Given the description of an element on the screen output the (x, y) to click on. 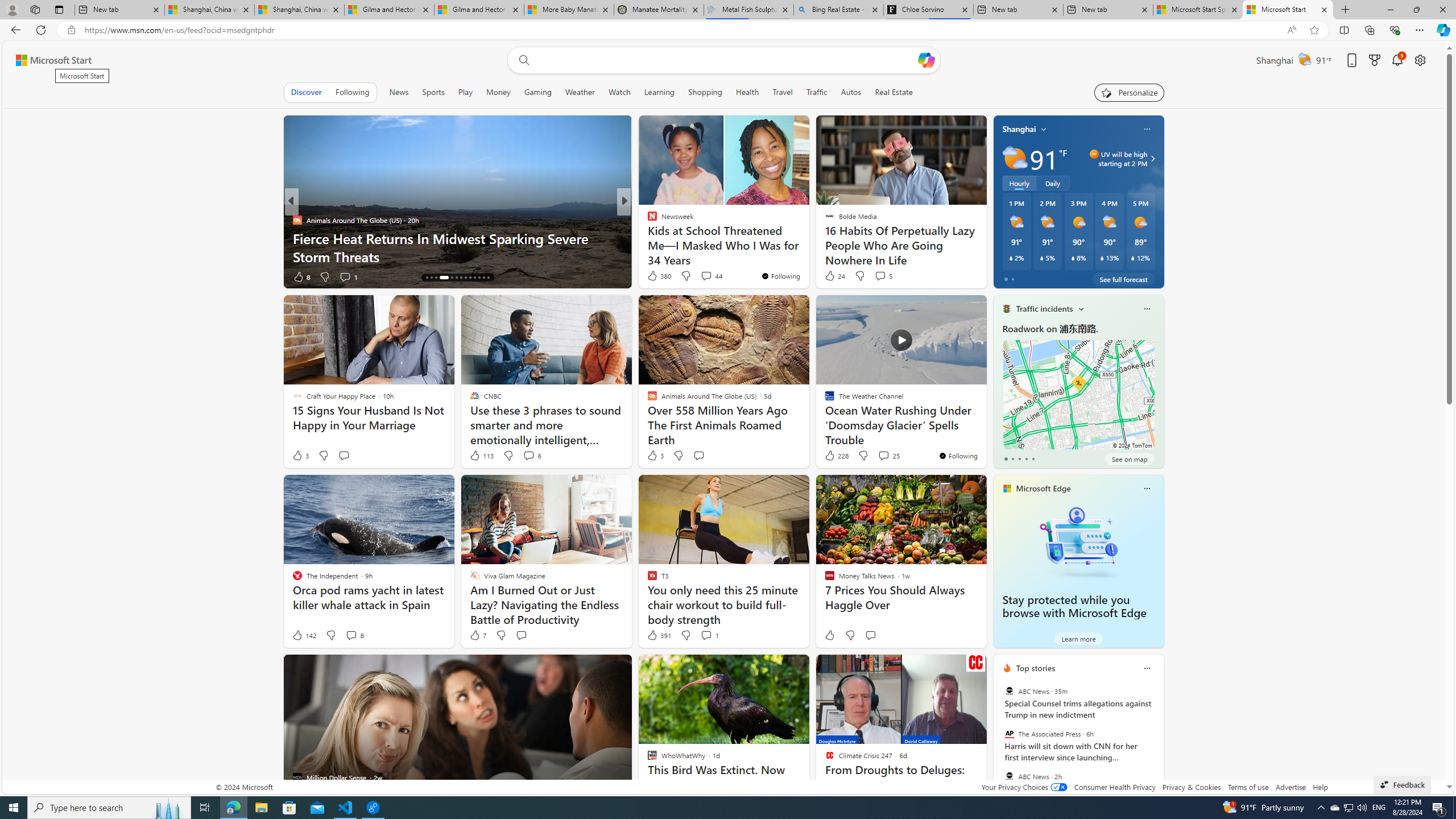
Privacy & Cookies (1191, 786)
AutomationID: tab-25 (483, 277)
Stay protected while you browse with Microsoft Edge (1074, 606)
You're following The Weather Channel (957, 455)
next (1158, 741)
7 Like (477, 634)
tab-3 (1025, 458)
